Given the description of an element on the screen output the (x, y) to click on. 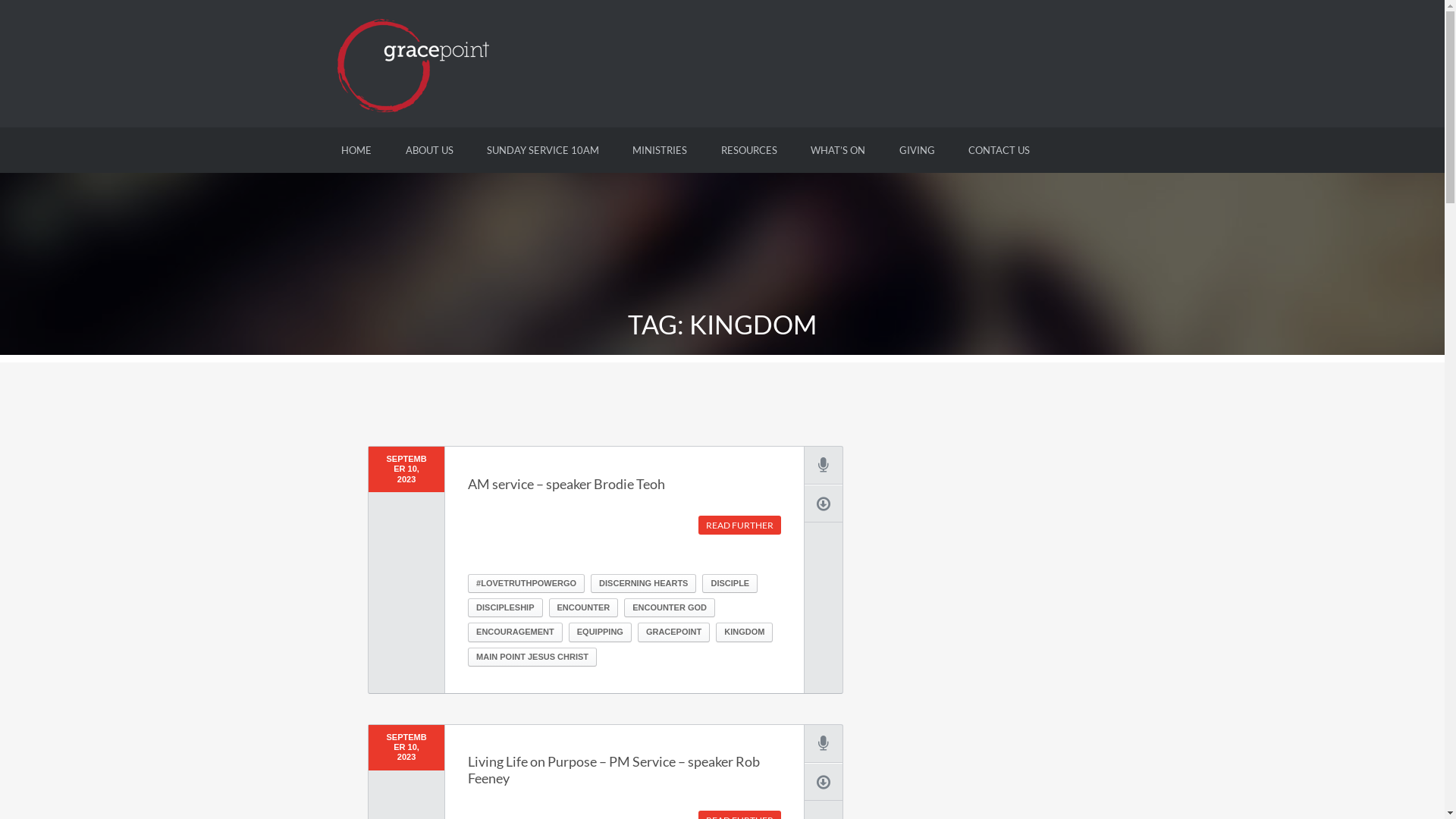
MAIN POINT JESUS CHRIST Element type: text (531, 656)
HOME Element type: text (356, 149)
ABOUT US Element type: text (429, 149)
DISCIPLESHIP Element type: text (504, 607)
GRACEPOINT Element type: text (673, 631)
ENCOURAGEMENT Element type: text (514, 631)
GIVING Element type: text (917, 149)
RESOURCES Element type: text (749, 149)
ENCOUNTER GOD Element type: text (669, 607)
READ FURTHER Element type: text (739, 524)
ENCOUNTER Element type: text (583, 607)
KINGDOM Element type: text (743, 631)
DISCIPLE Element type: text (729, 583)
DISCERNING HEARTS Element type: text (643, 583)
SUNDAY SERVICE 10AM Element type: text (542, 149)
MINISTRIES Element type: text (659, 149)
CONTACT US Element type: text (998, 149)
Gracepoint Christian Church Element type: hover (413, 62)
#LOVETRUTHPOWERGO Element type: text (525, 583)
EQUIPPING Element type: text (599, 631)
